Given the description of an element on the screen output the (x, y) to click on. 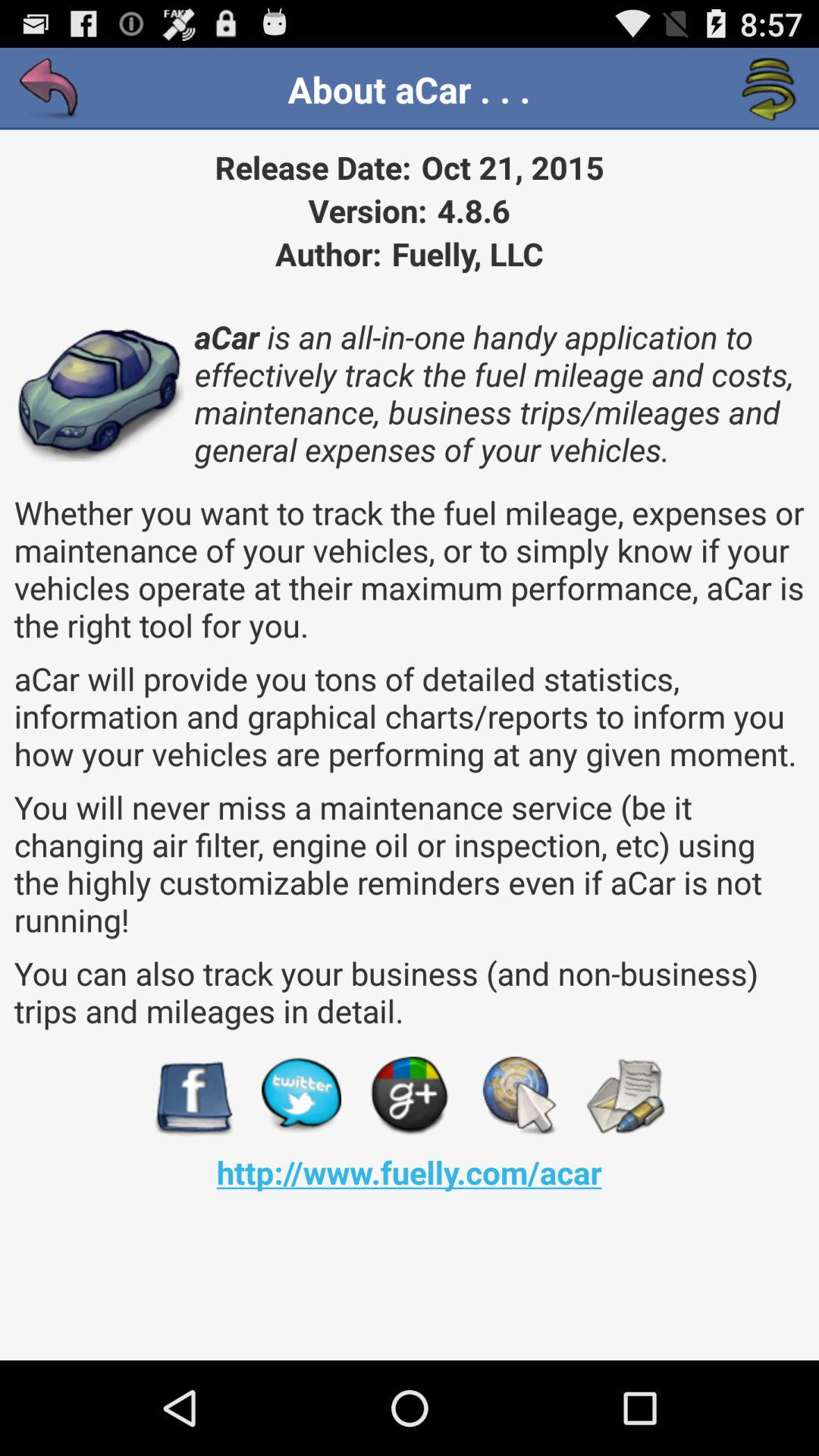
open email (625, 1096)
